Given the description of an element on the screen output the (x, y) to click on. 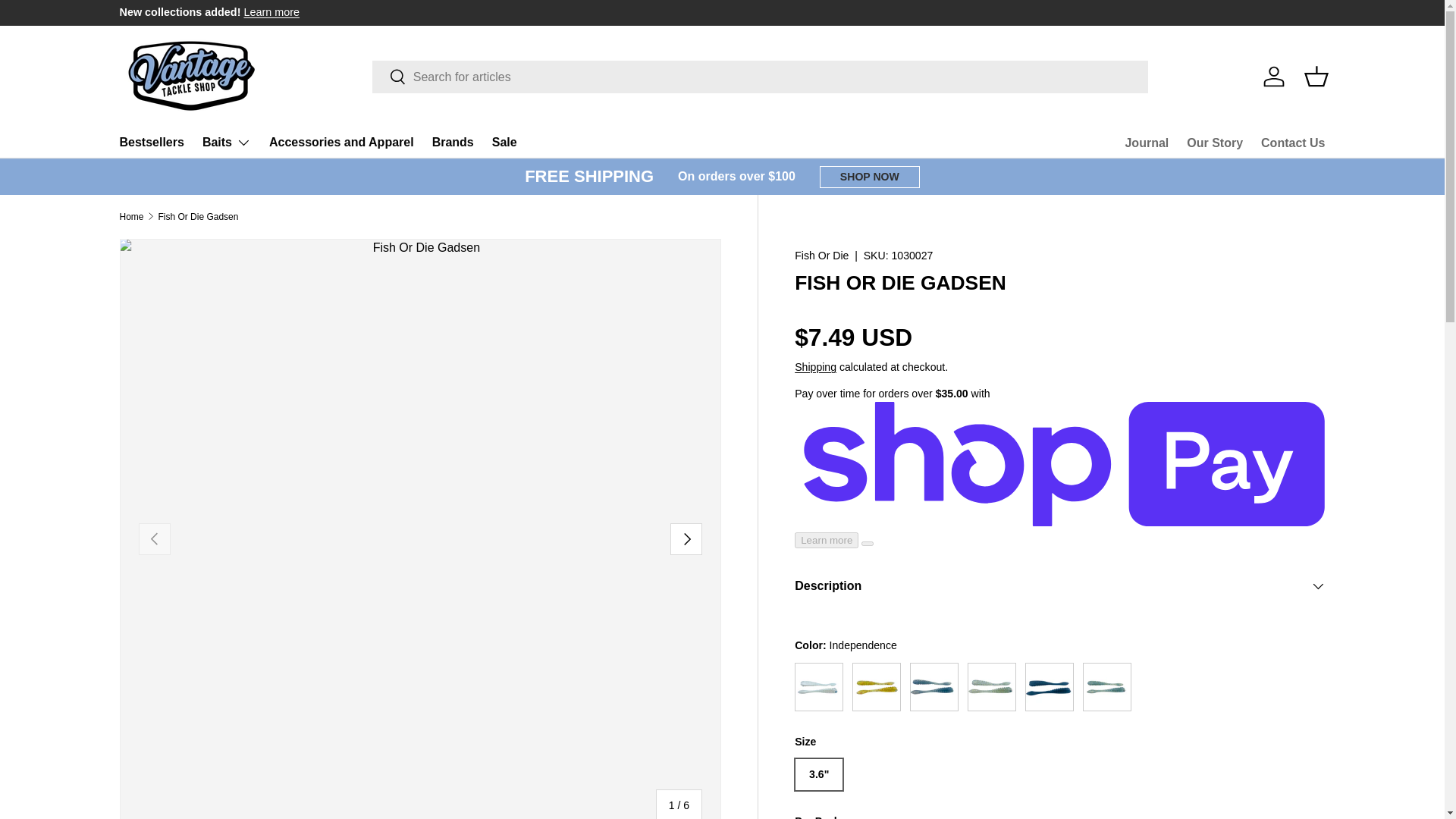
Learn more (271, 11)
SKIP TO CONTENT (68, 21)
Brands (453, 142)
Accessories and Apparel (341, 142)
Journal (1146, 142)
Basket (1316, 76)
Search (389, 77)
